Given the description of an element on the screen output the (x, y) to click on. 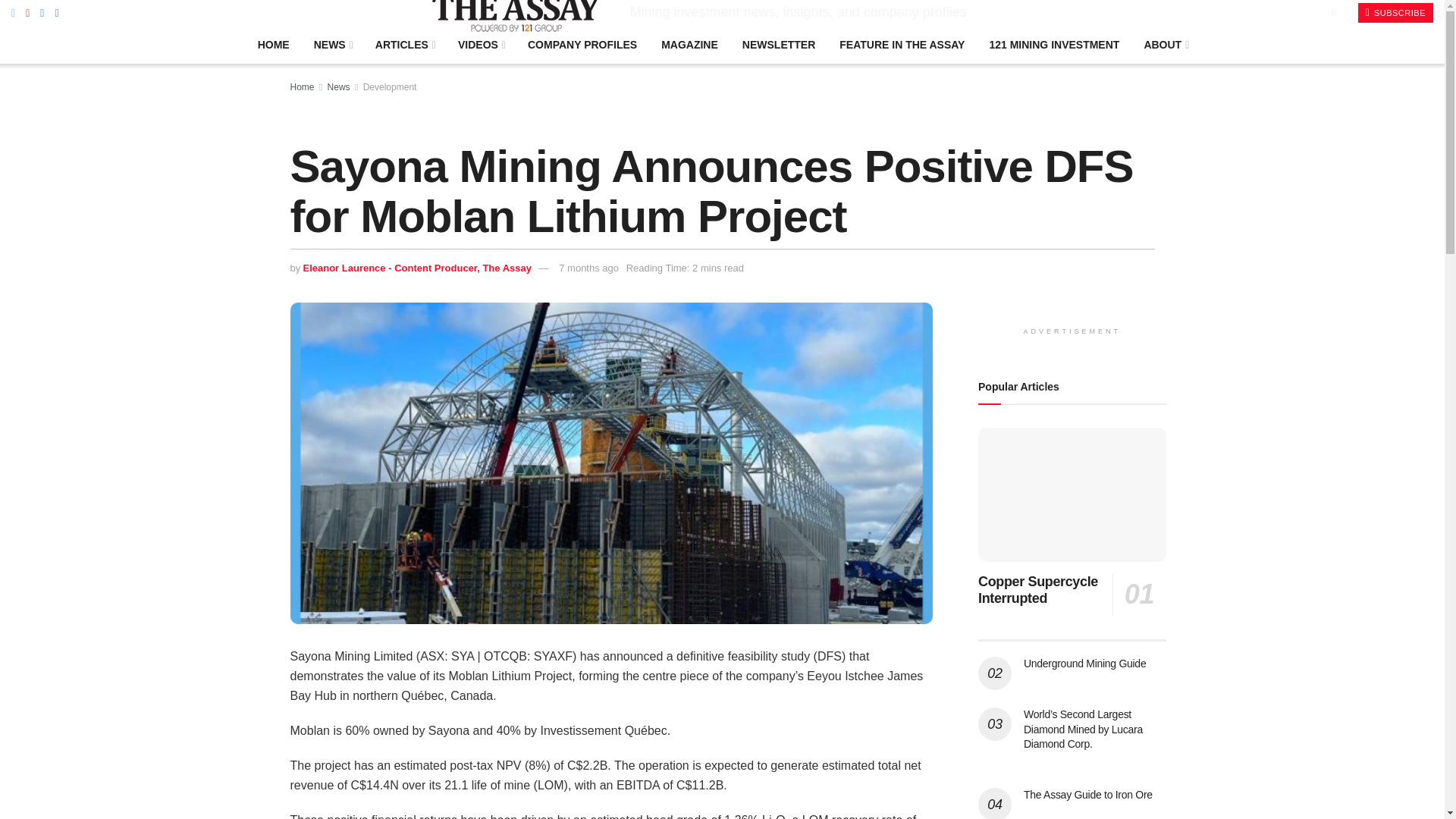
VIDEOS (480, 44)
FEATURE IN THE ASSAY (901, 44)
ARTICLES (403, 44)
MAGAZINE (689, 44)
NEWSLETTER (778, 44)
NEWS (331, 44)
SUBSCRIBE (1395, 12)
121 MINING INVESTMENT (1053, 44)
HOME (273, 44)
COMPANY PROFILES (582, 44)
